Given the description of an element on the screen output the (x, y) to click on. 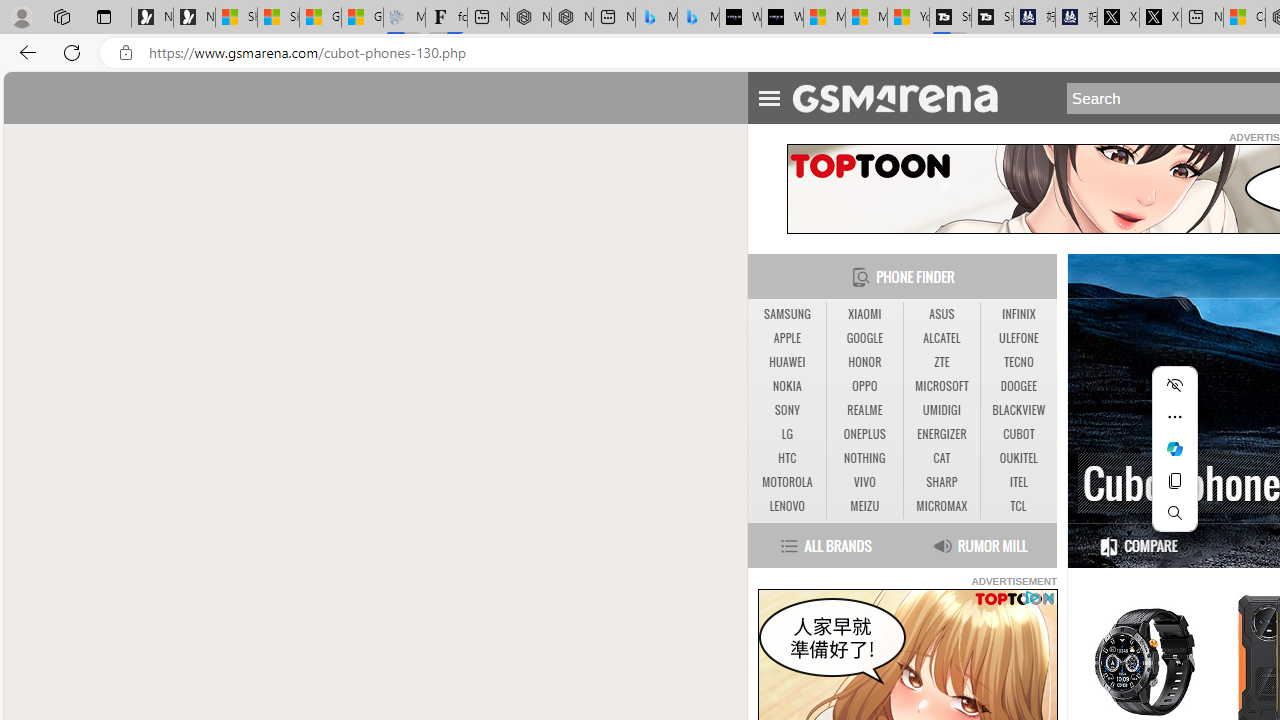
Newsletter Sign Up (194, 17)
HTC (786, 458)
Microsoft Start Sports (823, 17)
AutomationID: close_button_svg (1048, 596)
SHARP (941, 483)
ASUS (941, 314)
HONOR (864, 362)
APPLE (786, 338)
TECNO (1018, 362)
ZTE (941, 362)
ONEPLUS (864, 434)
